Given the description of an element on the screen output the (x, y) to click on. 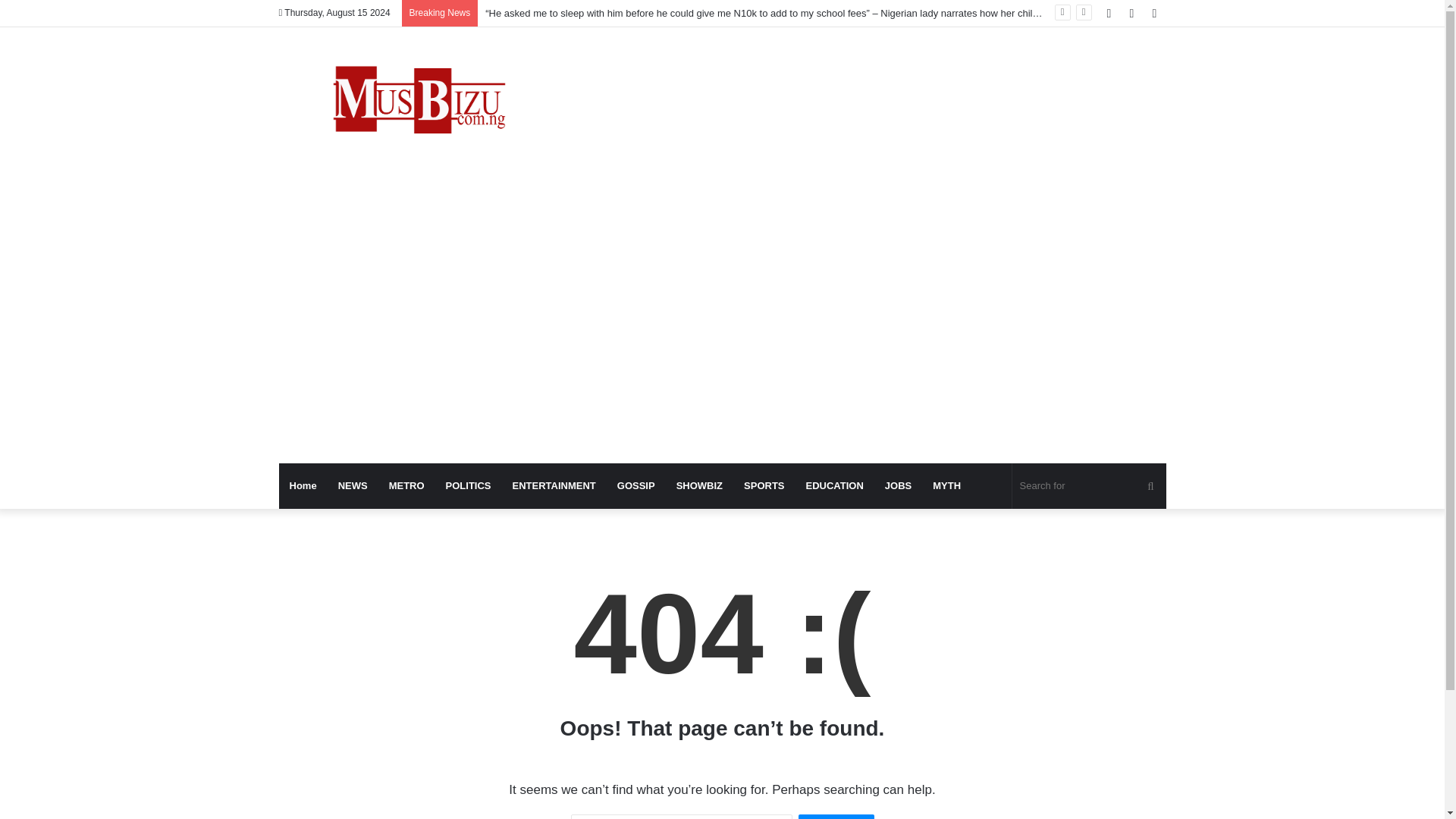
SPORTS (763, 485)
Home (303, 485)
Search for (1088, 485)
METRO (406, 485)
MYTH (946, 485)
GOSSIP (636, 485)
EDUCATION (834, 485)
Musbizu (419, 103)
Search (835, 816)
POLITICS (468, 485)
